Given the description of an element on the screen output the (x, y) to click on. 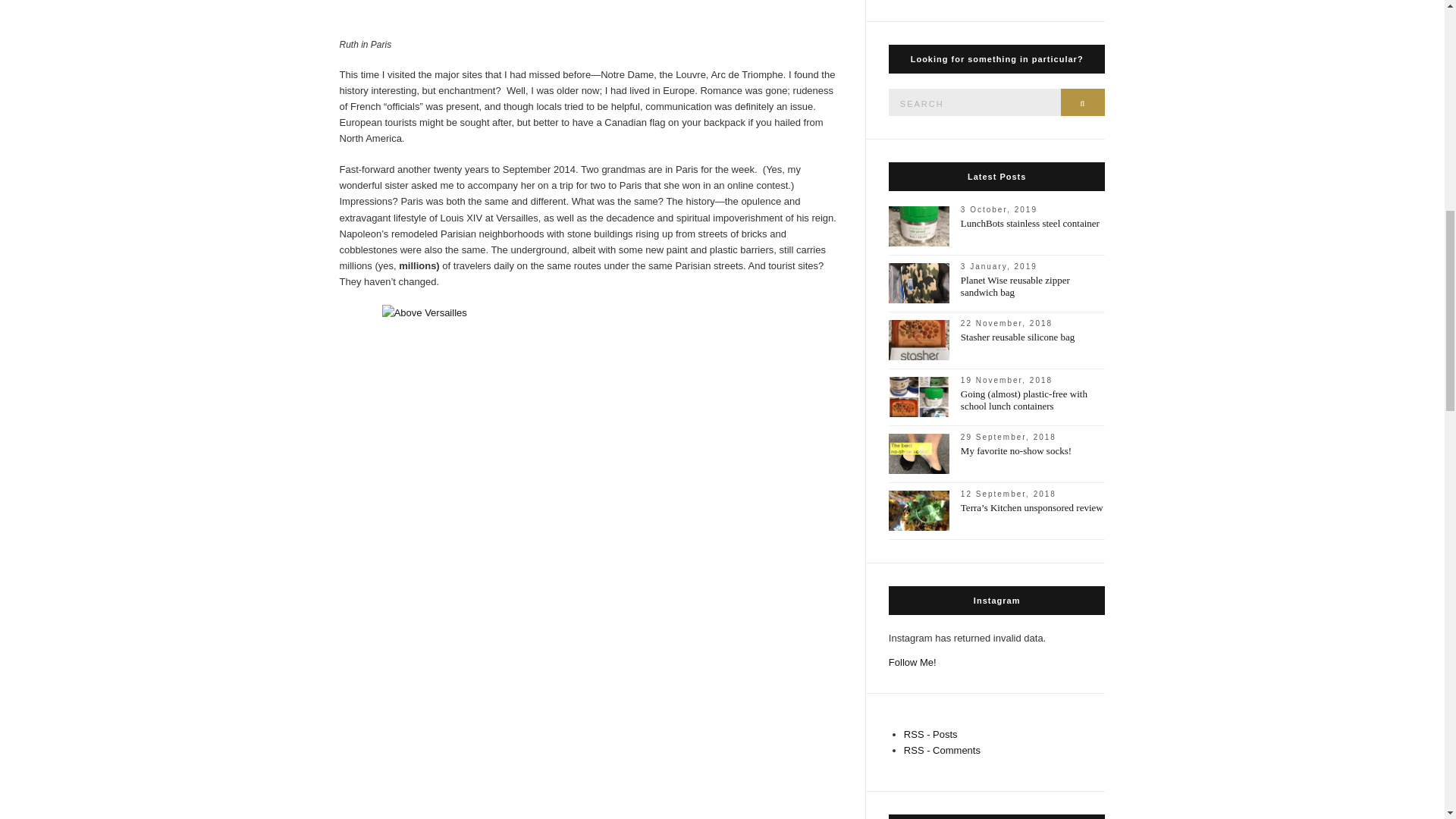
Search (1083, 102)
Subscribe to Comments (941, 749)
Subscribe to Posts (931, 734)
LunchBots stainless steel container (1029, 223)
Stasher reusable silicone bag (1017, 337)
Planet Wise reusable zipper sandwich bag (1015, 286)
